Given the description of an element on the screen output the (x, y) to click on. 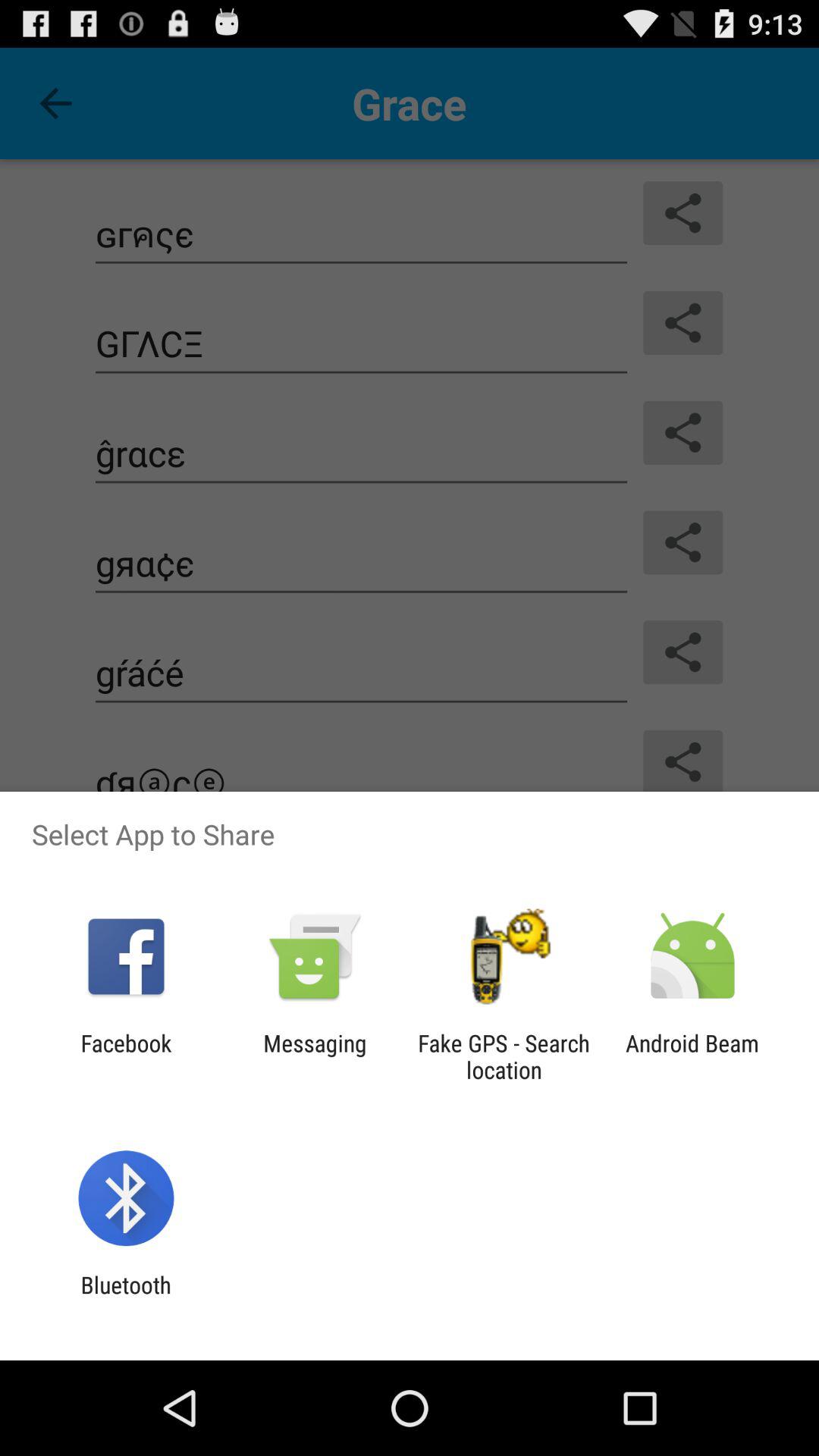
scroll to the fake gps search (503, 1056)
